Given the description of an element on the screen output the (x, y) to click on. 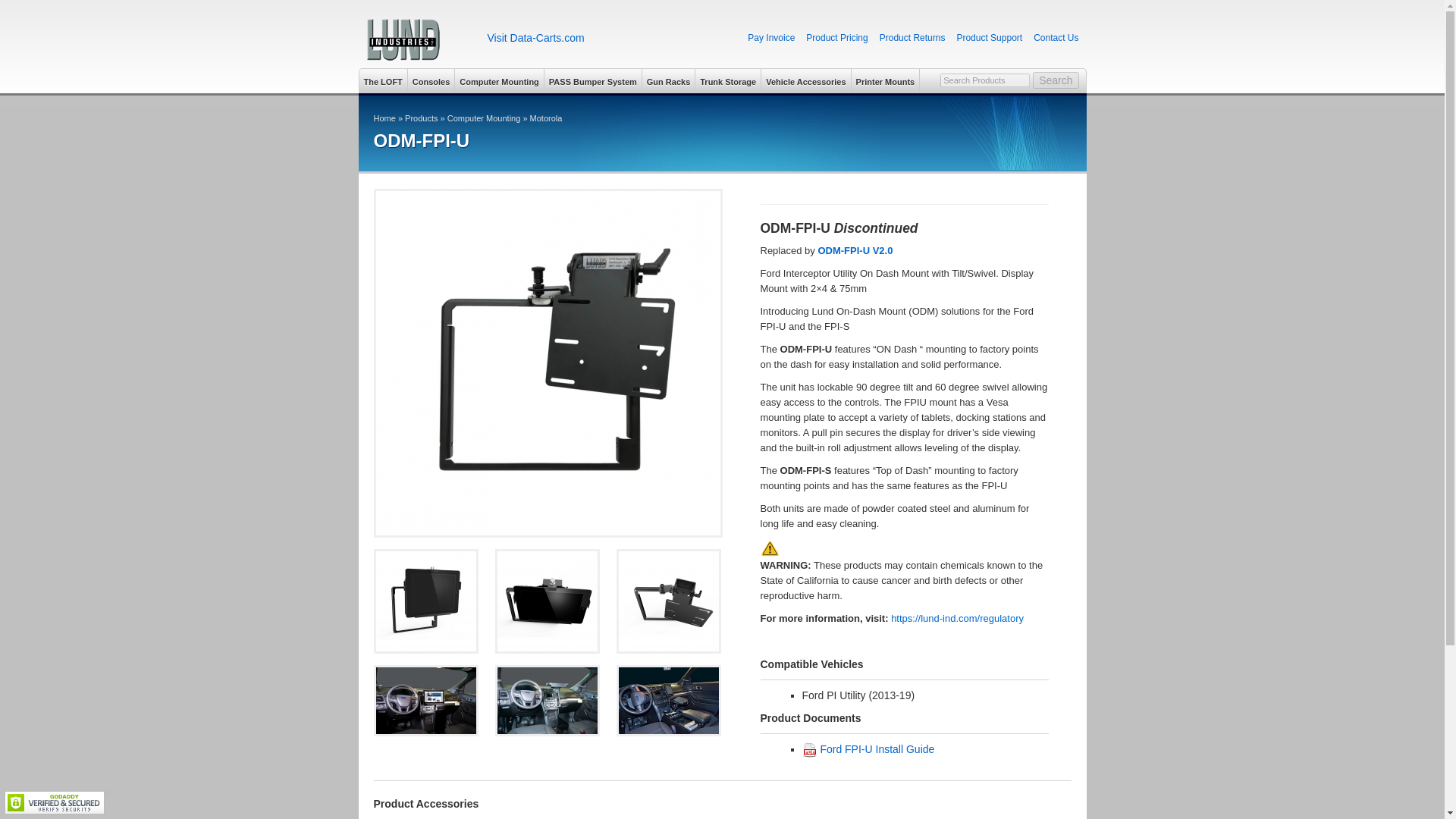
Products (421, 117)
Motorola (545, 117)
Computer Mounting (483, 117)
Lund Industries Data Carts (534, 37)
Printer Mounts (885, 80)
Pay Invoice (771, 37)
Product Pricing (836, 37)
ODM-FPI-U (668, 600)
Search Products (984, 79)
Trunk Storage (728, 80)
